Given the description of an element on the screen output the (x, y) to click on. 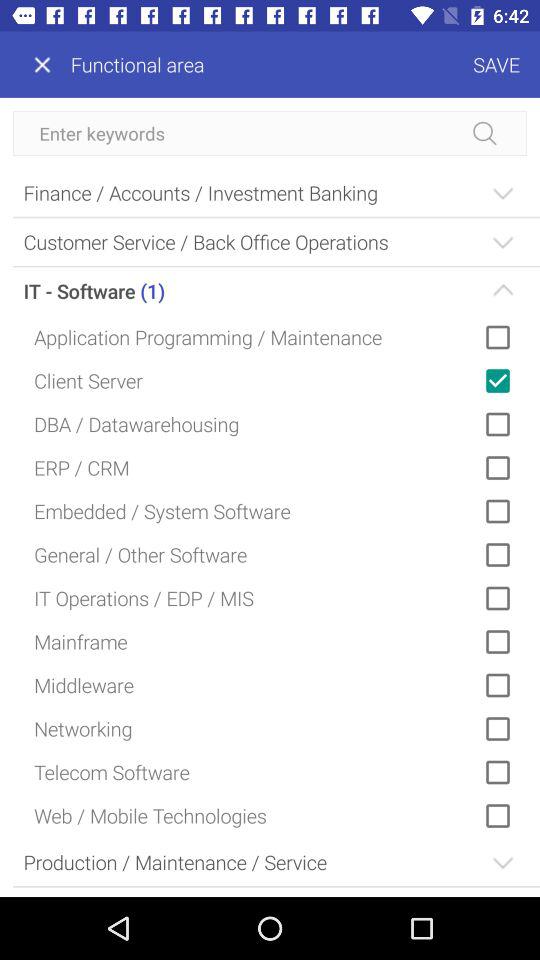
choose save icon (372, 64)
